Given the description of an element on the screen output the (x, y) to click on. 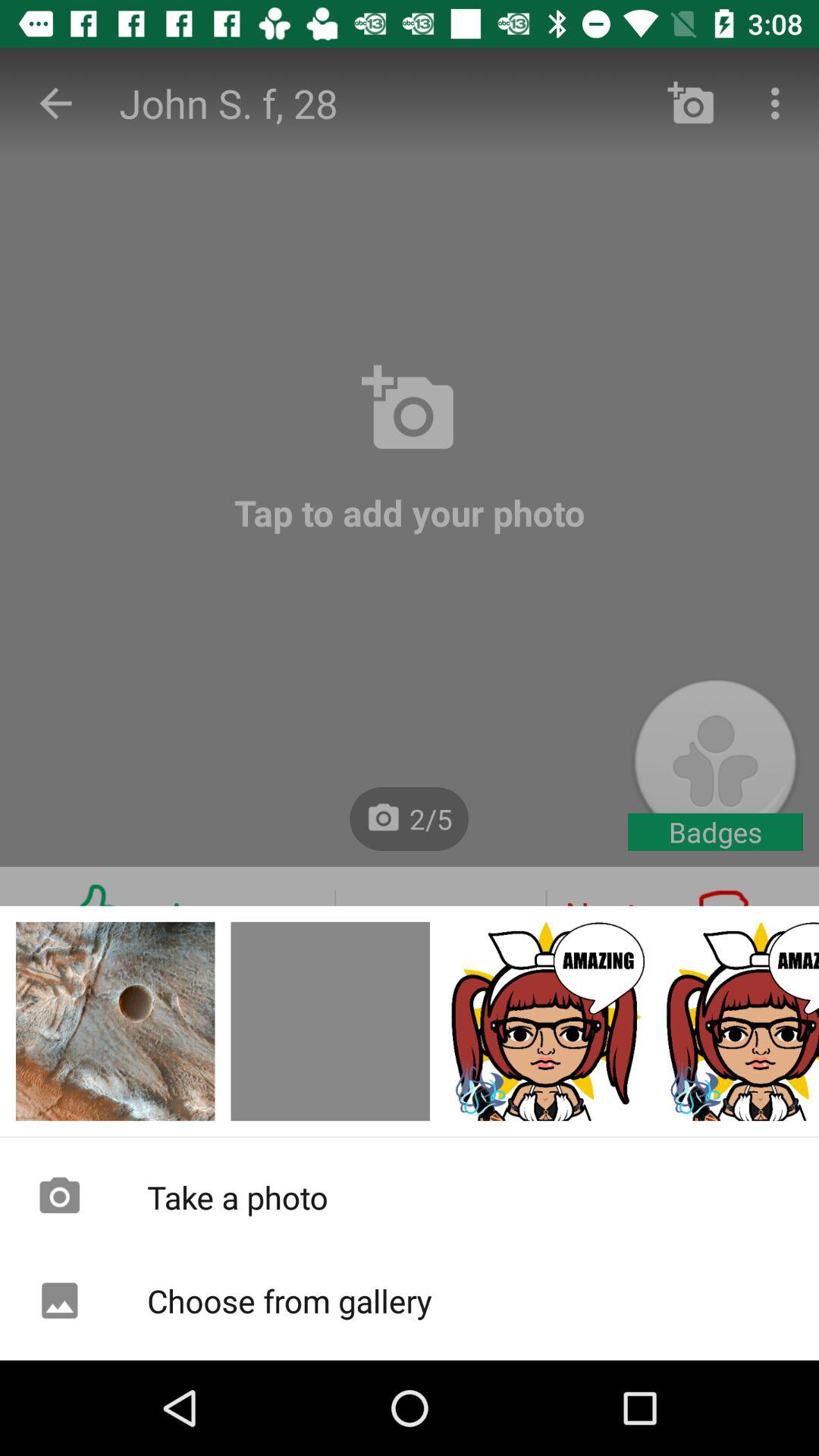
jump to choose from gallery item (409, 1300)
